Given the description of an element on the screen output the (x, y) to click on. 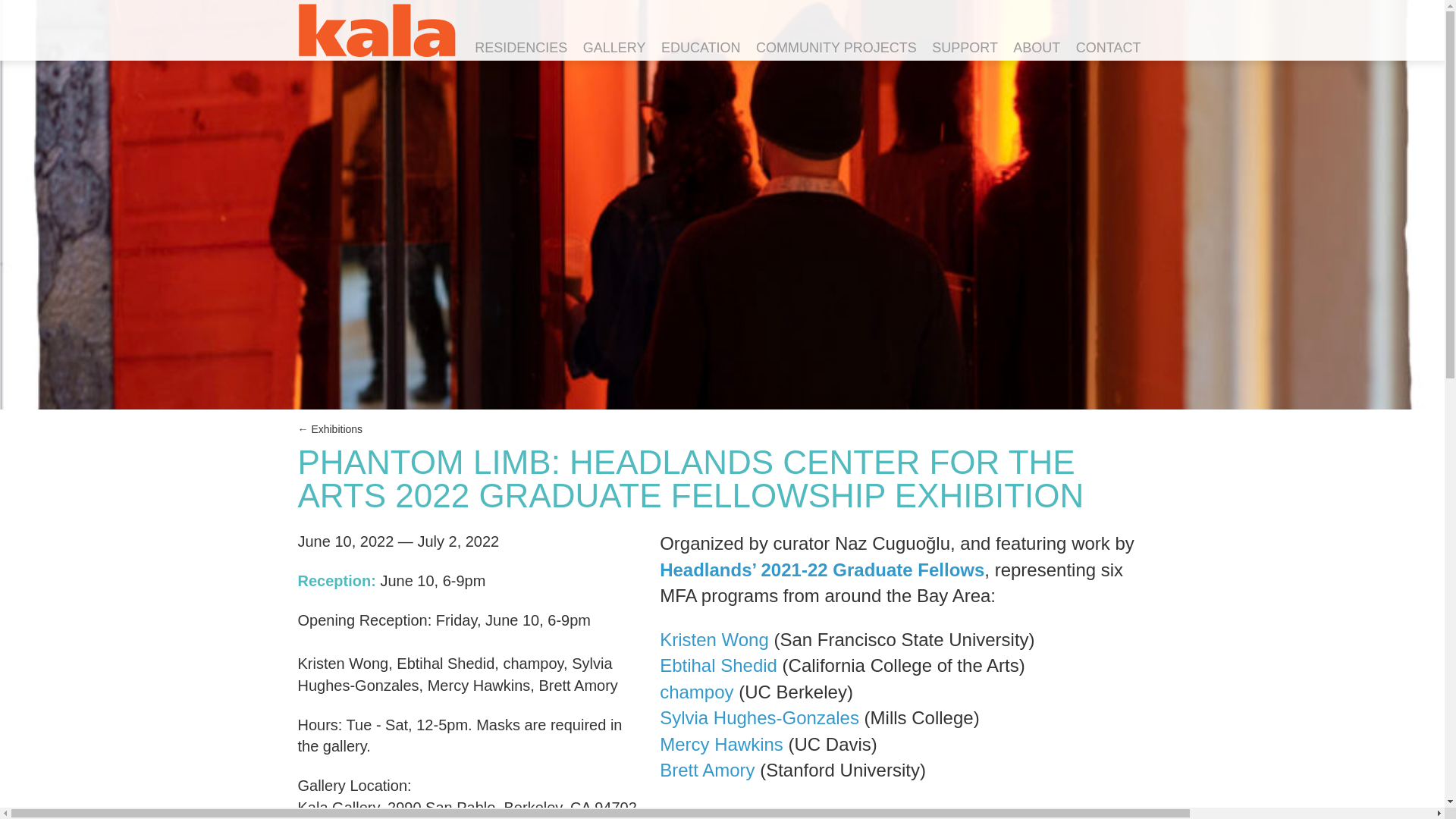
COMMUNITY PROJECTS (836, 48)
GALLERY (614, 48)
SUPPORT (965, 48)
EDUCATION (700, 48)
RESIDENCIES (520, 48)
Kala Art Institute (375, 41)
